Given the description of an element on the screen output the (x, y) to click on. 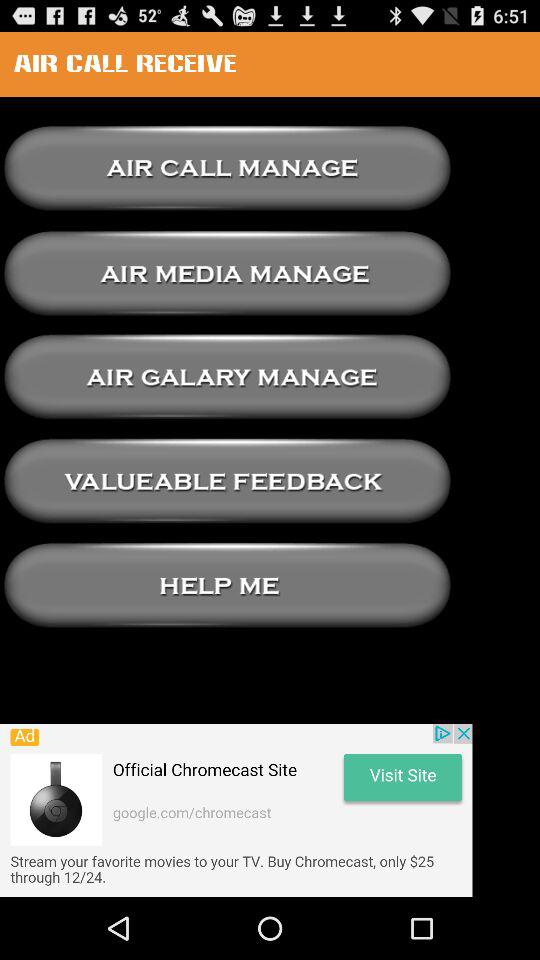
open help me screen (227, 585)
